Given the description of an element on the screen output the (x, y) to click on. 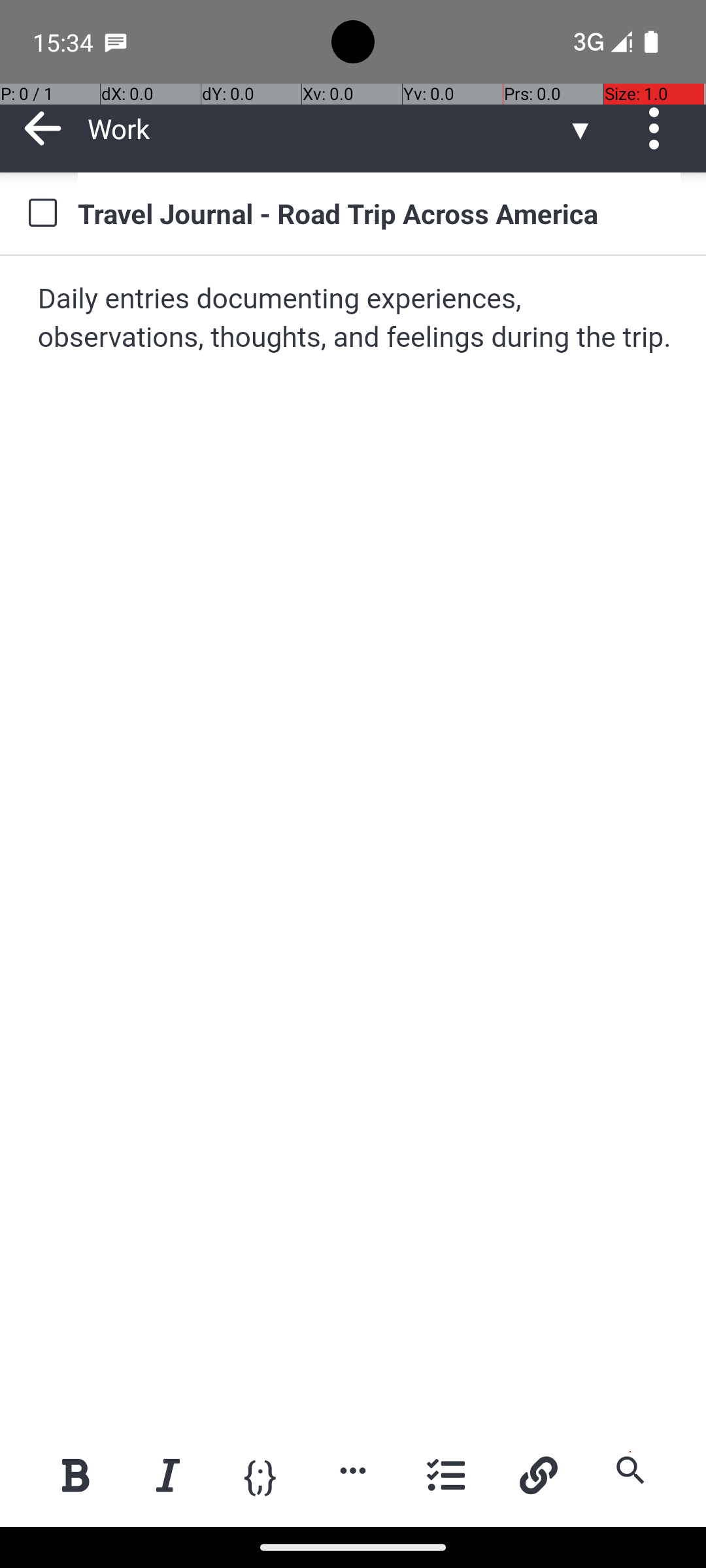
Travel Journal - Road Trip Across America Element type: android.widget.EditText (378, 213)
Work Element type: android.widget.TextView (326, 128)
Daily entries documenting experiences, observations, thoughts, and feelings during the trip. Element type: android.widget.EditText (354, 318)
